Given the description of an element on the screen output the (x, y) to click on. 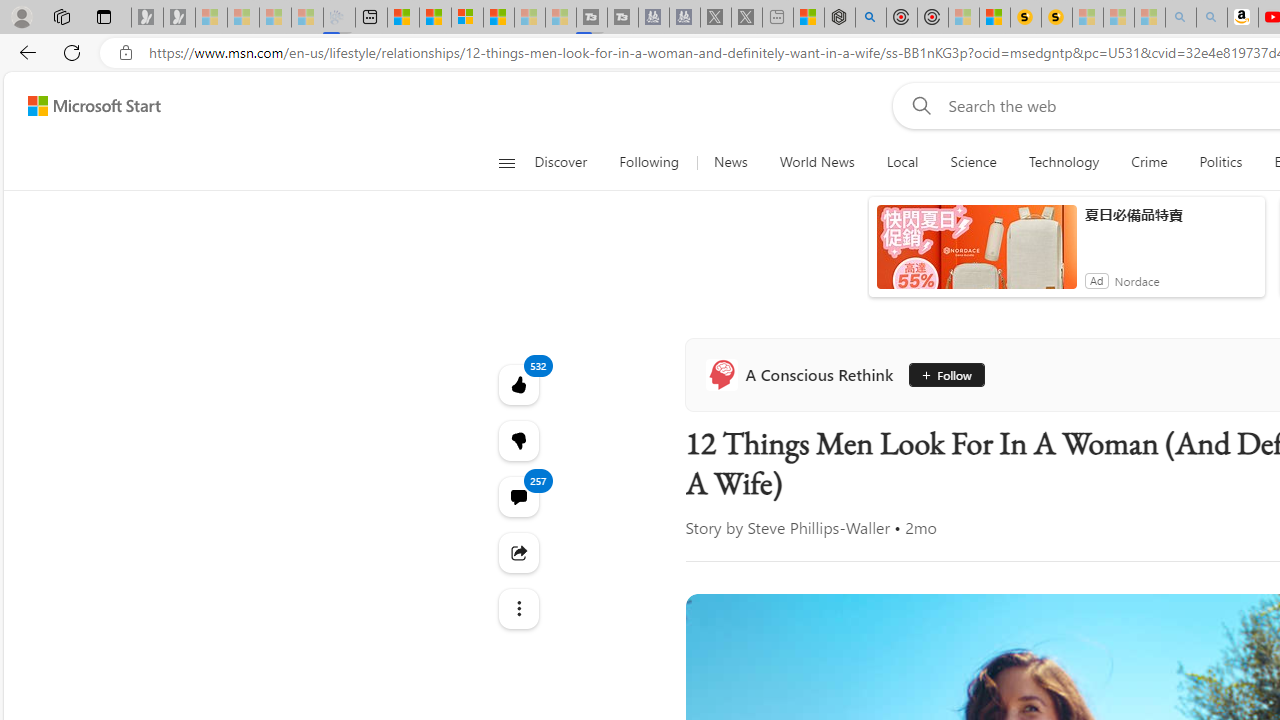
anim-content (975, 255)
Share this story (517, 552)
Overview (466, 17)
Follow (938, 374)
Microsoft Start - Sleeping (529, 17)
World News (817, 162)
Science (973, 162)
Skip to content (86, 105)
